Given the description of an element on the screen output the (x, y) to click on. 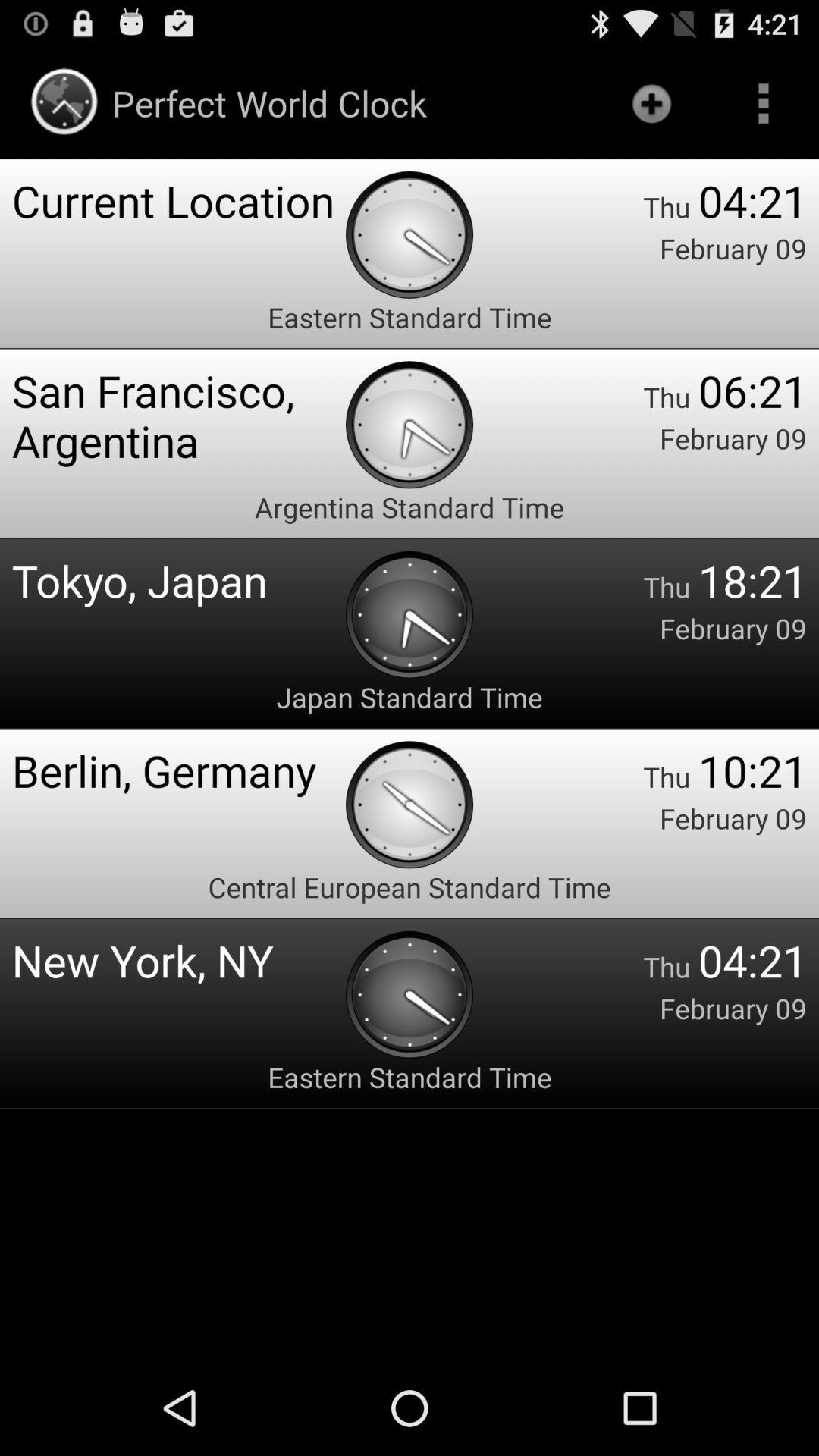
scroll to the new york, ny (178, 960)
